Given the description of an element on the screen output the (x, y) to click on. 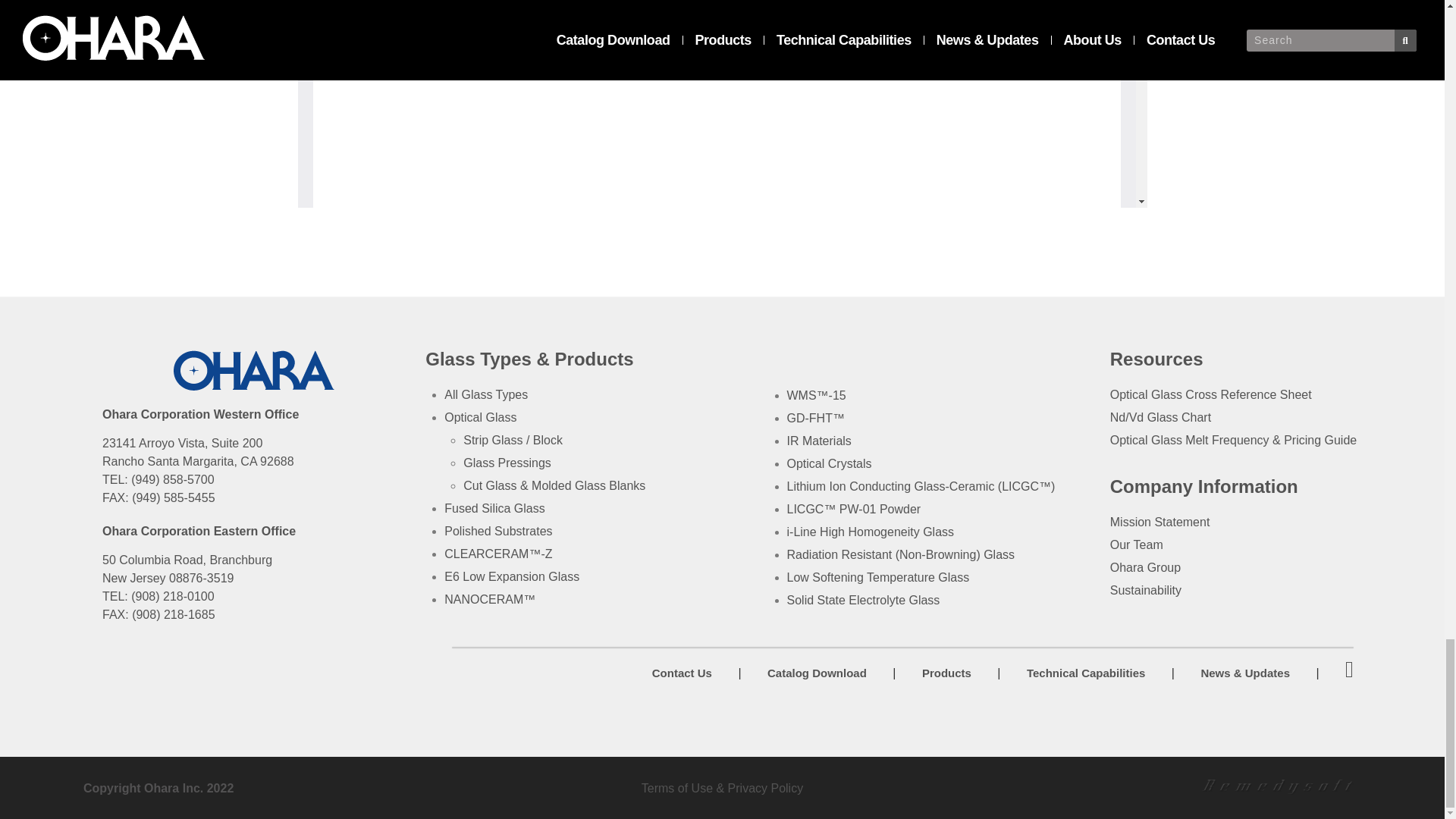
Glass Pressings (507, 462)
Ohara Corporation Western Office (199, 413)
All Glass Types (485, 394)
Ohara Corporation Eastern Office (198, 530)
Optical Glass (480, 417)
Linked in (1349, 669)
All Glass Types (485, 394)
